Given the description of an element on the screen output the (x, y) to click on. 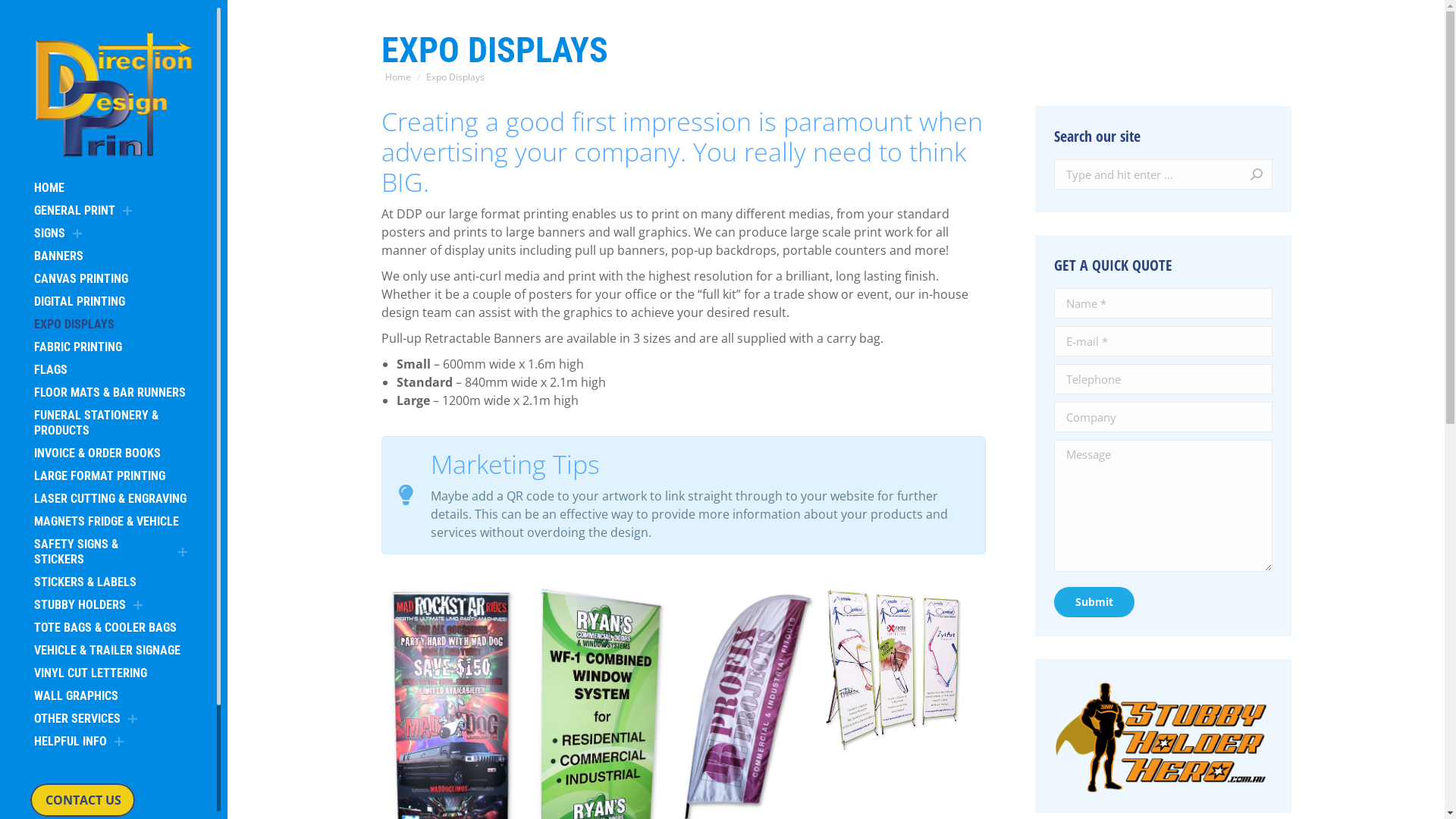
FLAGS Element type: text (50, 369)
CONTACT US Element type: text (82, 799)
Go! Element type: text (1240, 174)
stands Element type: hover (891, 669)
LARGE FORMAT PRINTING Element type: text (99, 475)
BANNERS Element type: text (58, 255)
TOTE BAGS & COOLER BAGS Element type: text (105, 627)
submit Element type: text (1183, 603)
CANVAS PRINTING Element type: text (80, 278)
MAGNETS FRIDGE & VEHICLE Element type: text (106, 521)
DIGITAL PRINTING Element type: text (79, 301)
VEHICLE & TRAILER SIGNAGE Element type: text (107, 650)
WALL GRAPHICS Element type: text (76, 695)
HELPFUL INFO Element type: text (70, 741)
FLOOR MATS & BAR RUNNERS Element type: text (109, 392)
INVOICE & ORDER BOOKS Element type: text (97, 453)
LASER CUTTING & ENGRAVING Element type: text (110, 498)
FUNERAL STATIONERY & PRODUCTS Element type: text (113, 423)
FABRIC PRINTING Element type: text (77, 346)
EXPO DISPLAYS Element type: text (74, 324)
GENERAL PRINT Element type: text (74, 210)
STICKERS & LABELS Element type: text (85, 582)
VINYL CUT LETTERING Element type: text (90, 673)
SAFETY SIGNS & STICKERS Element type: text (102, 552)
Home Element type: text (398, 76)
HOME Element type: text (49, 187)
Submit Element type: text (1094, 601)
OTHER SERVICES Element type: text (77, 718)
SIGNS Element type: text (49, 233)
Go! Element type: text (31, 16)
STUBBY HOLDERS Element type: text (79, 604)
